Given the description of an element on the screen output the (x, y) to click on. 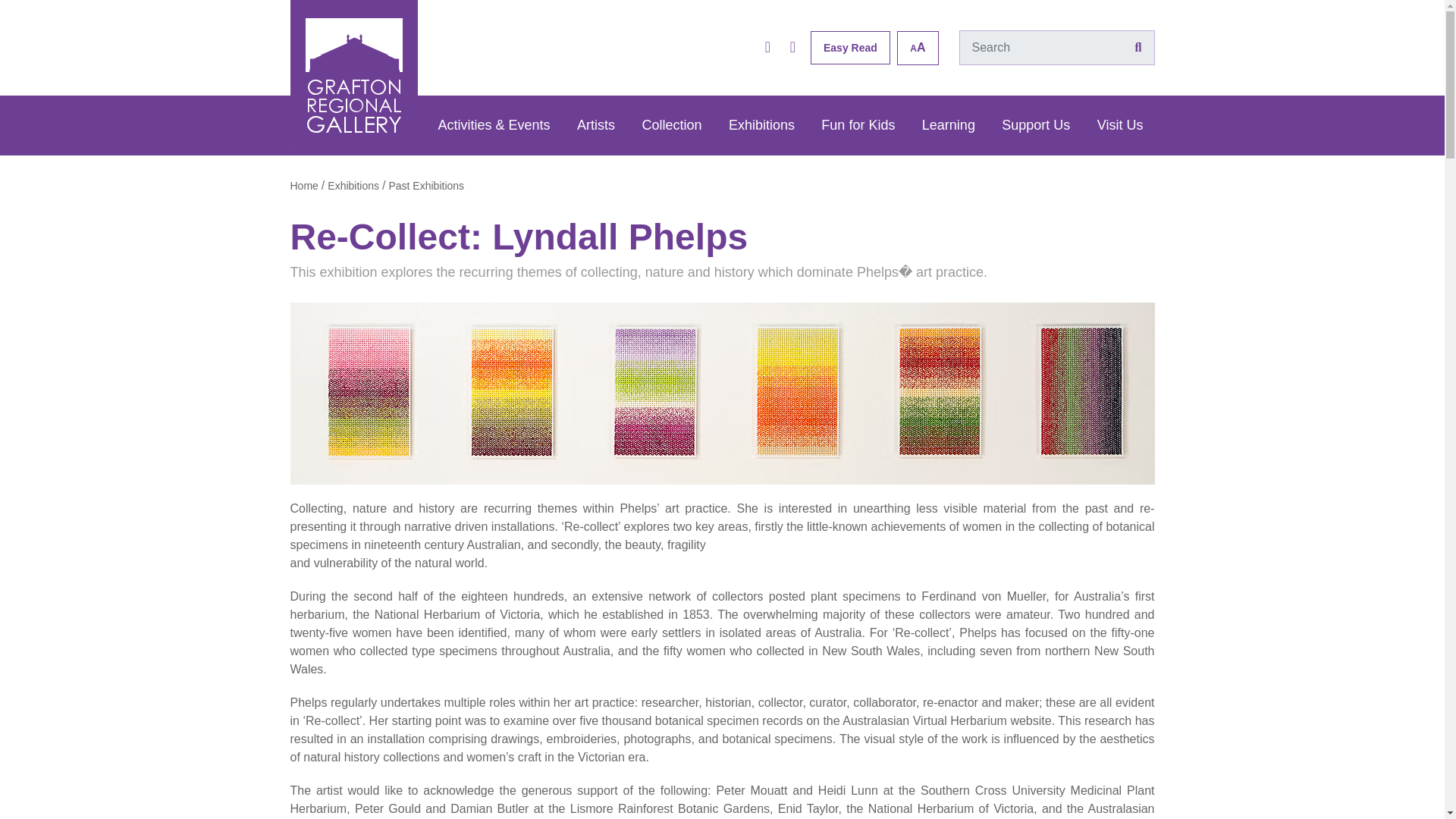
Fun for Kids (857, 125)
Collection (671, 125)
Exhibitions (352, 185)
Past Exhibitions (426, 185)
AA (916, 47)
Visit Us (1120, 125)
Artists (596, 125)
Support Us (1035, 125)
Learning (949, 125)
Exhibitions (761, 125)
Easy Read (849, 47)
Home (303, 185)
